Given the description of an element on the screen output the (x, y) to click on. 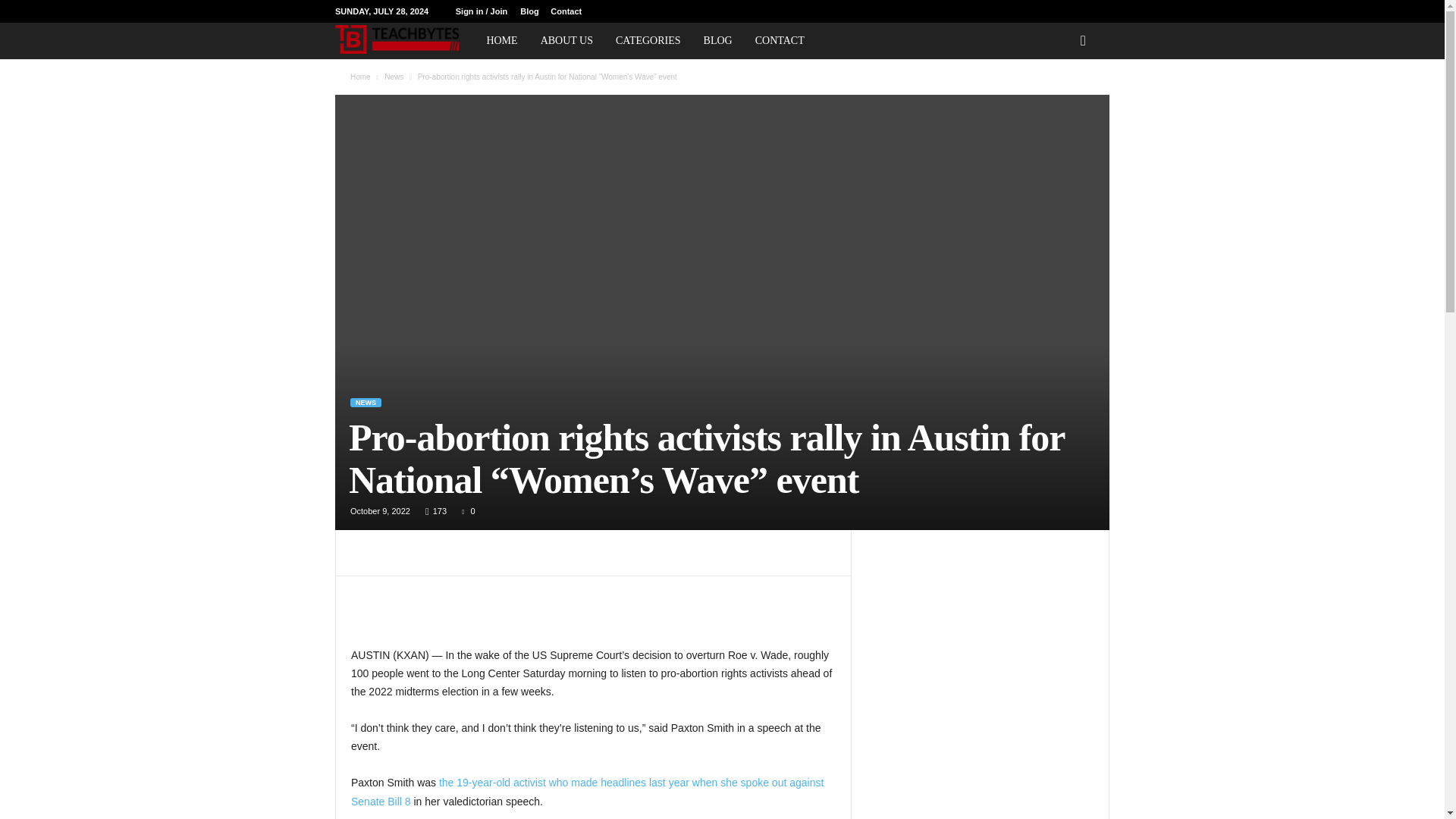
Contact (565, 10)
ABOUT US (566, 40)
BLOG (718, 40)
Blog (528, 10)
News (393, 76)
View all posts in News (393, 76)
Teachbytes (404, 39)
CONTACT (779, 40)
HOME (501, 40)
Home (360, 76)
CATEGORIES (648, 40)
